Given the description of an element on the screen output the (x, y) to click on. 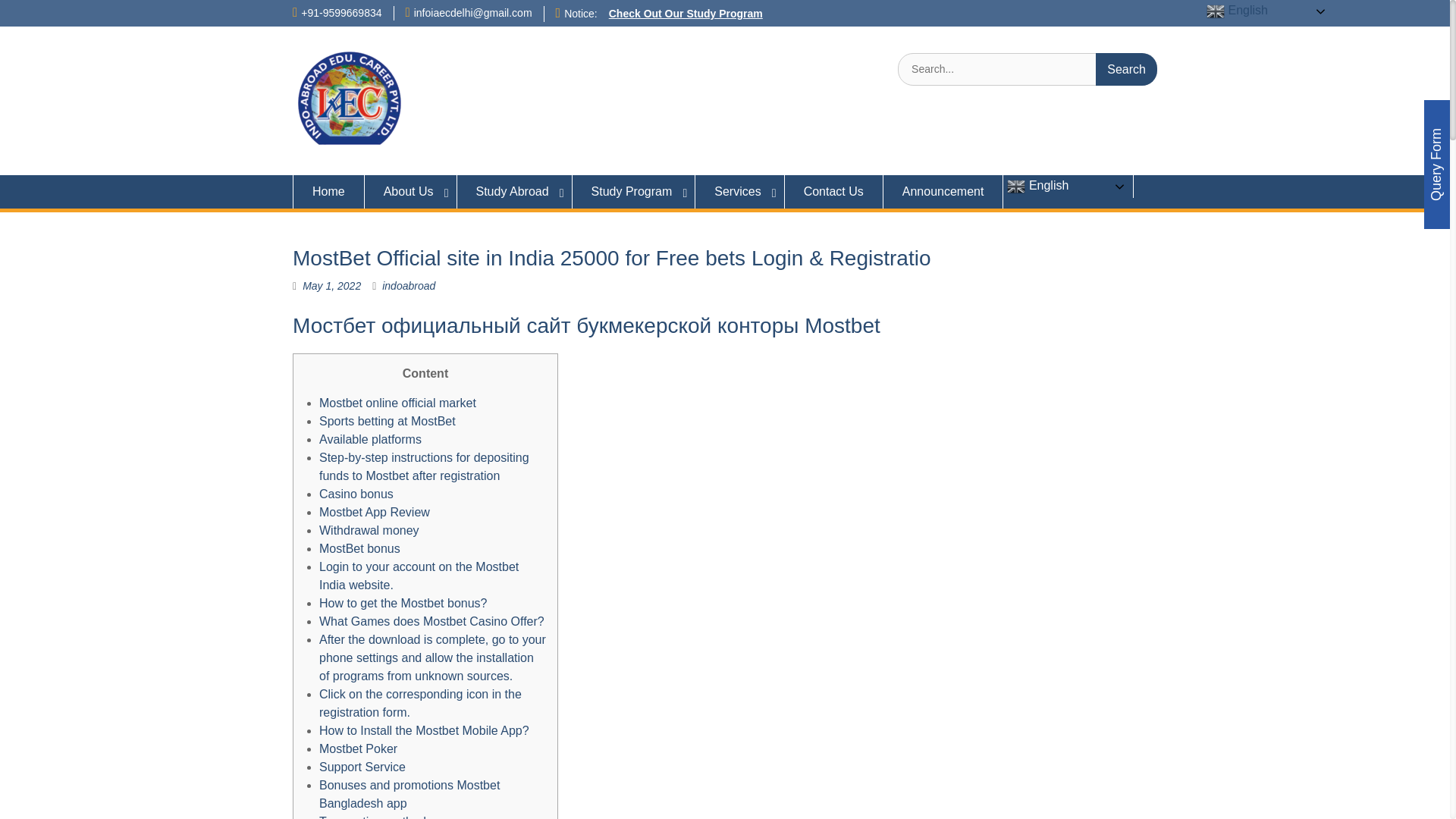
Services (739, 191)
Search for: (1027, 69)
Search (1126, 69)
Check Out Our Study Program (685, 13)
Study Abroad (514, 191)
Study Program (633, 191)
Search (1126, 69)
Home (328, 191)
Search (1126, 69)
About Us (411, 191)
